Given the description of an element on the screen output the (x, y) to click on. 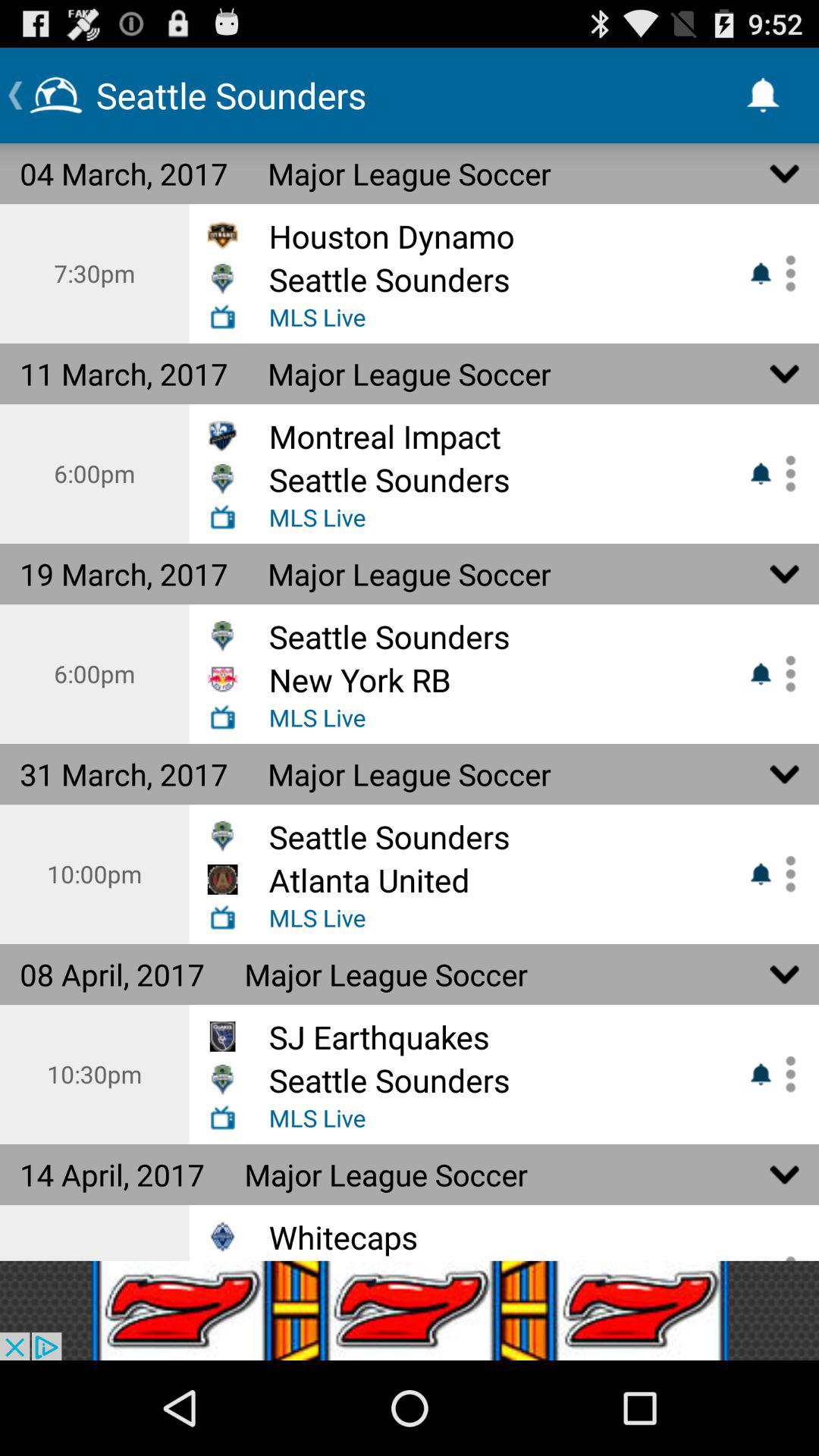
show options about mls game (785, 1074)
